Given the description of an element on the screen output the (x, y) to click on. 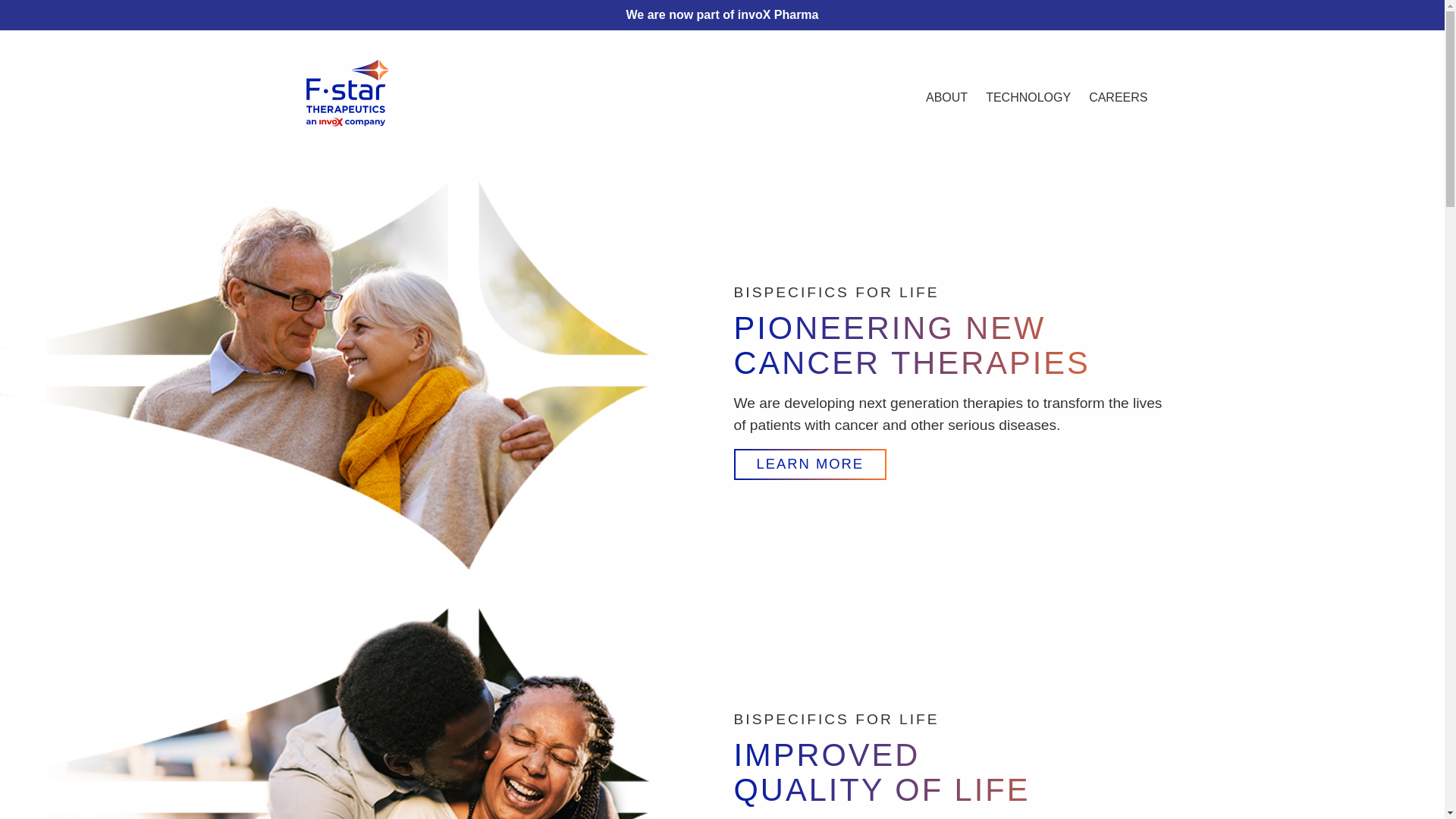
CAREERS (1118, 97)
ABOUT (947, 97)
TECHNOLOGY (1028, 97)
LEARN MORE (809, 463)
We are now part of invoX Pharma (722, 14)
